Given the description of an element on the screen output the (x, y) to click on. 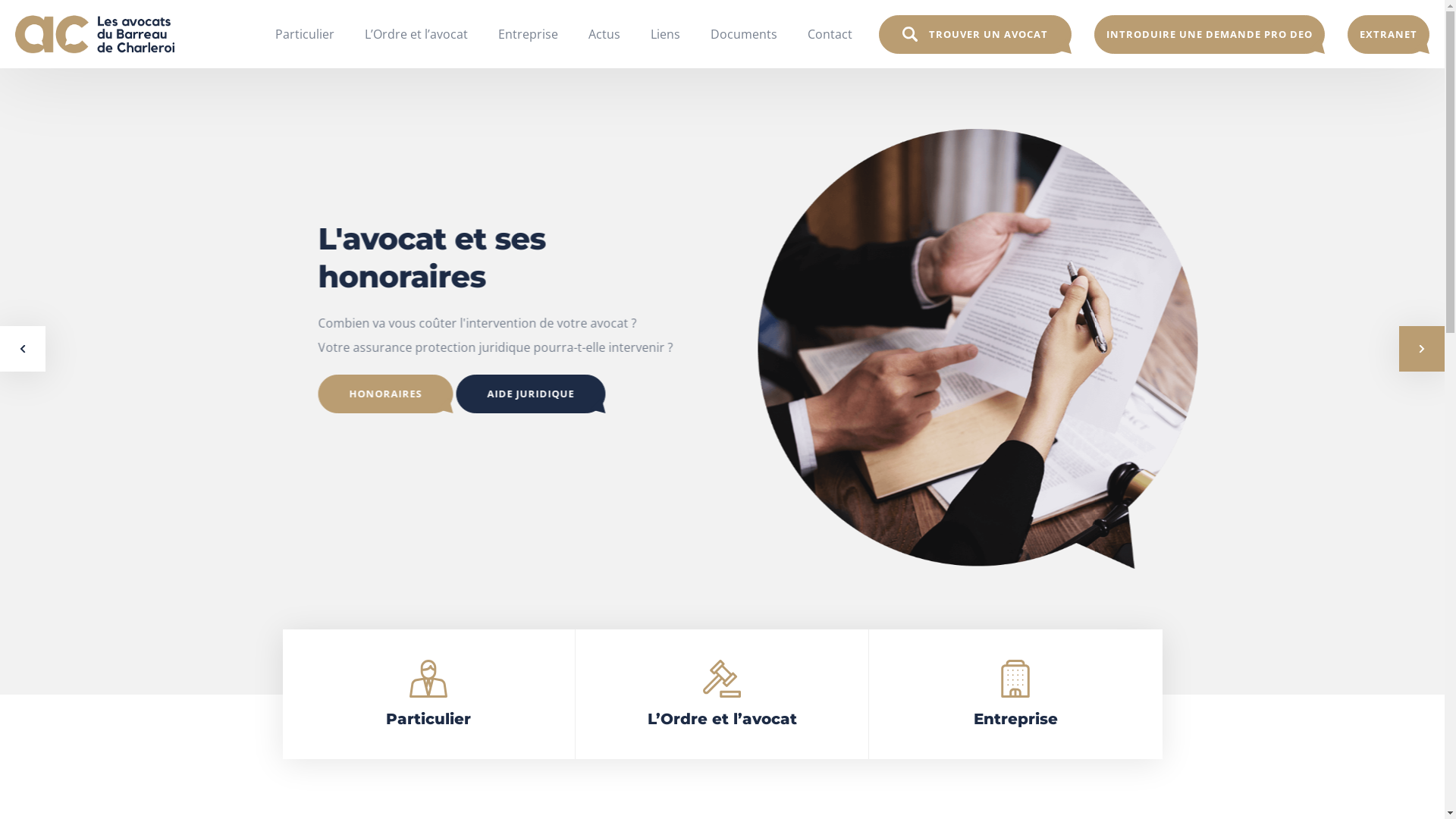
Previous Element type: text (22, 348)
Actus Element type: text (604, 34)
Particulier Element type: text (304, 34)
Contact Element type: text (829, 34)
AIDE JURIDIQUE Element type: text (831, 393)
Next Element type: text (1421, 348)
Entreprise Element type: text (528, 34)
TROUVER UN AVOCAT Element type: text (974, 34)
HONORAIRES Element type: text (743, 393)
EXTRANET Element type: text (1388, 34)
Liens Element type: text (665, 34)
Particulier Element type: text (428, 694)
Particulier Element type: text (304, 34)
INTRODUIRE UNE DEMANDE PRO DEO Element type: text (1209, 34)
Documents Element type: text (743, 34)
Entreprise Element type: text (528, 34)
Entreprise Element type: text (1015, 694)
